Given the description of an element on the screen output the (x, y) to click on. 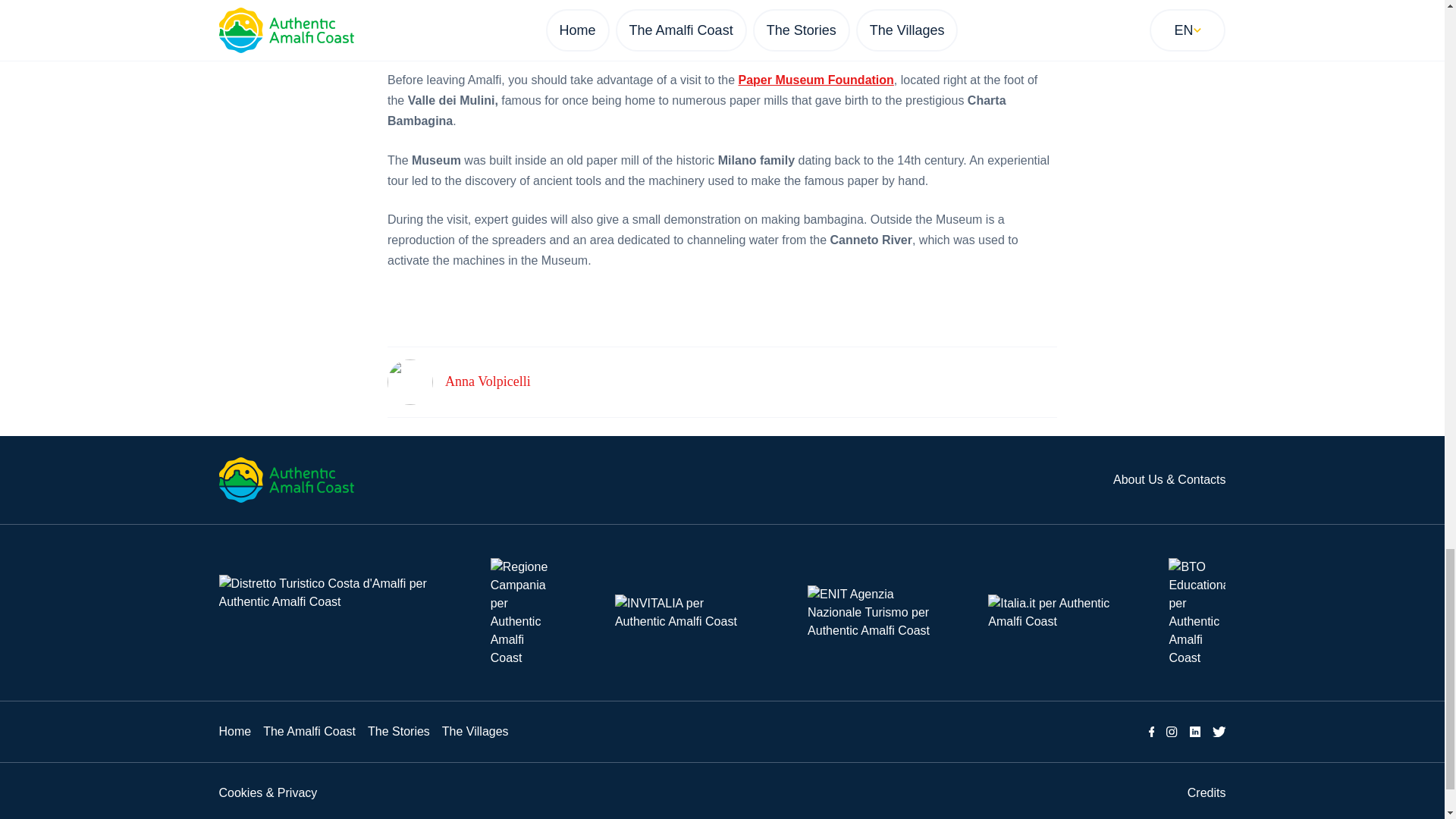
Anna Volpicelli (488, 381)
Credits (1206, 792)
Paper Museum Foundation (815, 79)
The Amalfi Coast (309, 730)
Home (234, 730)
The Stories (398, 730)
The Villages (475, 730)
Authentic Amalfi Coast (285, 479)
